Given the description of an element on the screen output the (x, y) to click on. 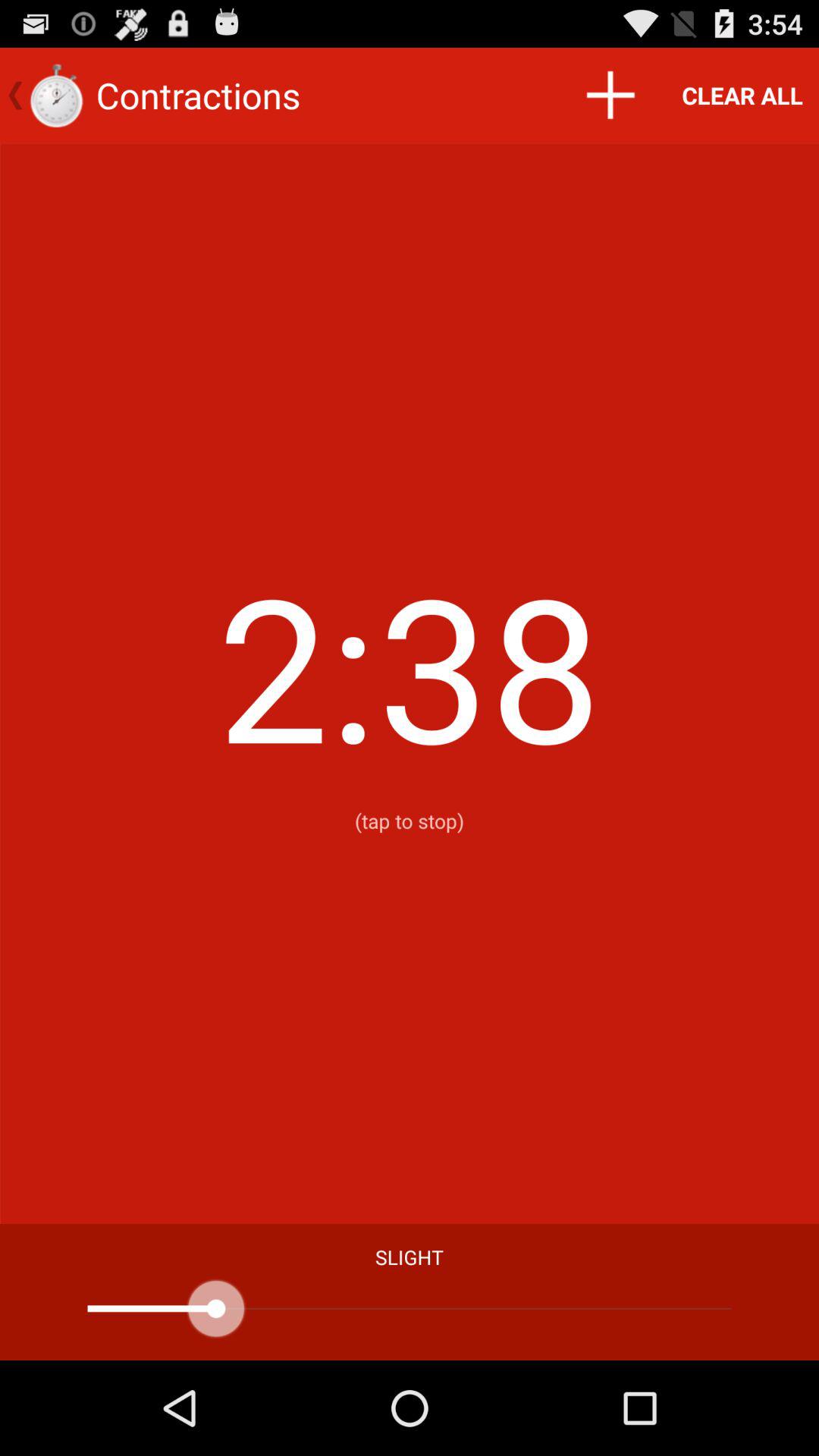
click item above 9 icon (610, 95)
